Given the description of an element on the screen output the (x, y) to click on. 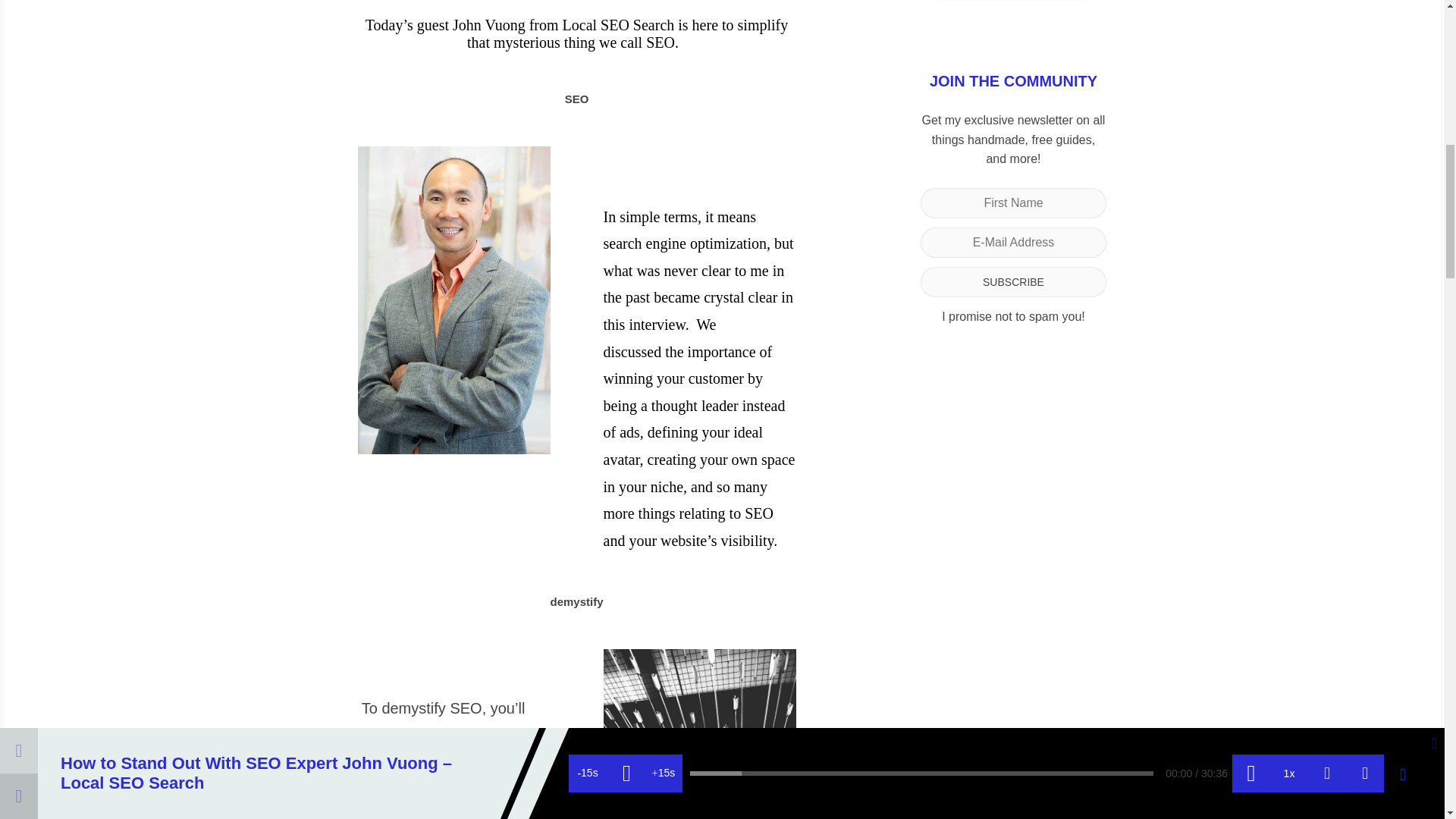
Subscribe (1013, 281)
Know-Your-Target-Audience.jpg (700, 734)
